Given the description of an element on the screen output the (x, y) to click on. 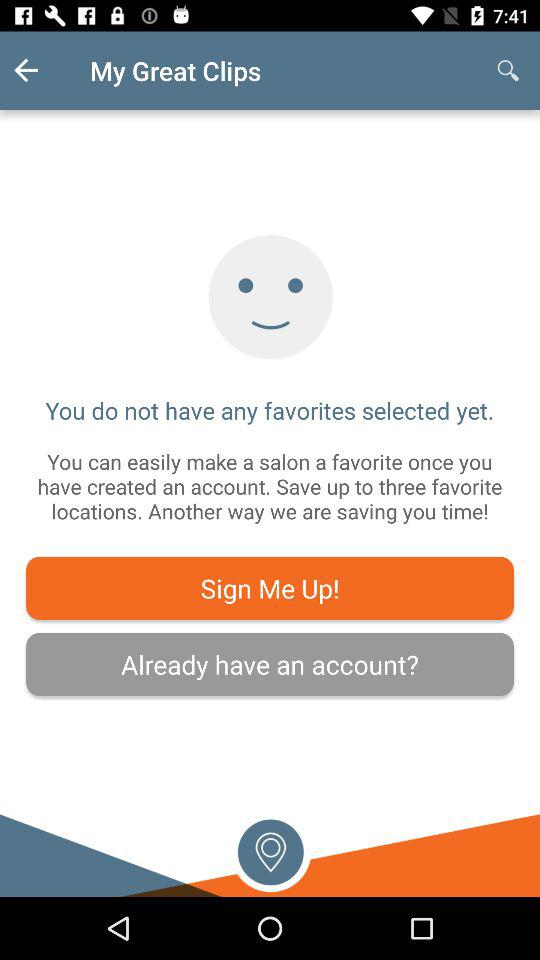
turn on icon above already have an item (269, 587)
